Given the description of an element on the screen output the (x, y) to click on. 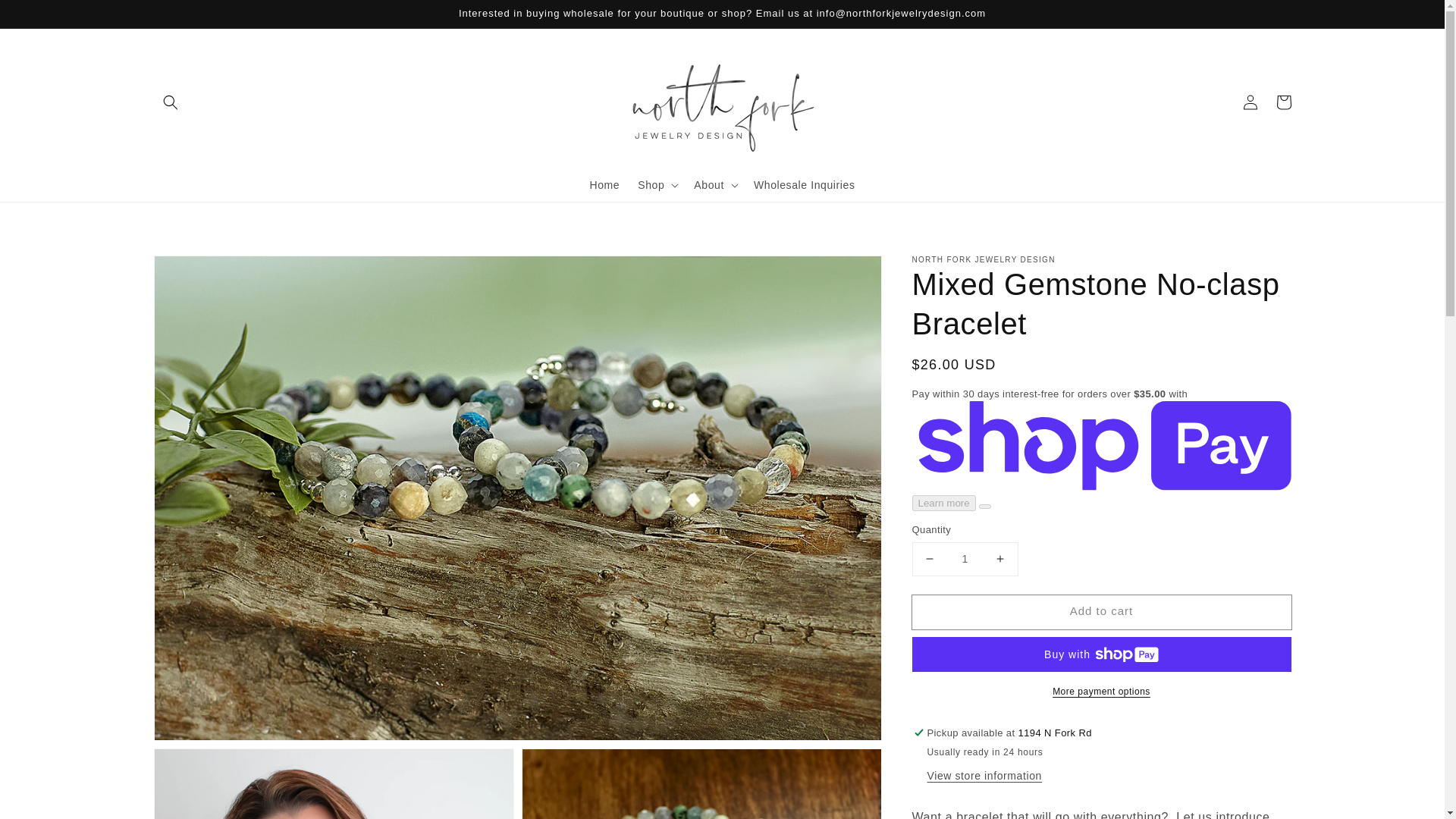
Log in (1249, 101)
1 (964, 558)
Skip to content (45, 16)
Open media 2 in gallery view (333, 784)
Wholesale Inquiries (804, 184)
Skip to product information (198, 271)
Home (603, 184)
Cart (1283, 101)
